Given the description of an element on the screen output the (x, y) to click on. 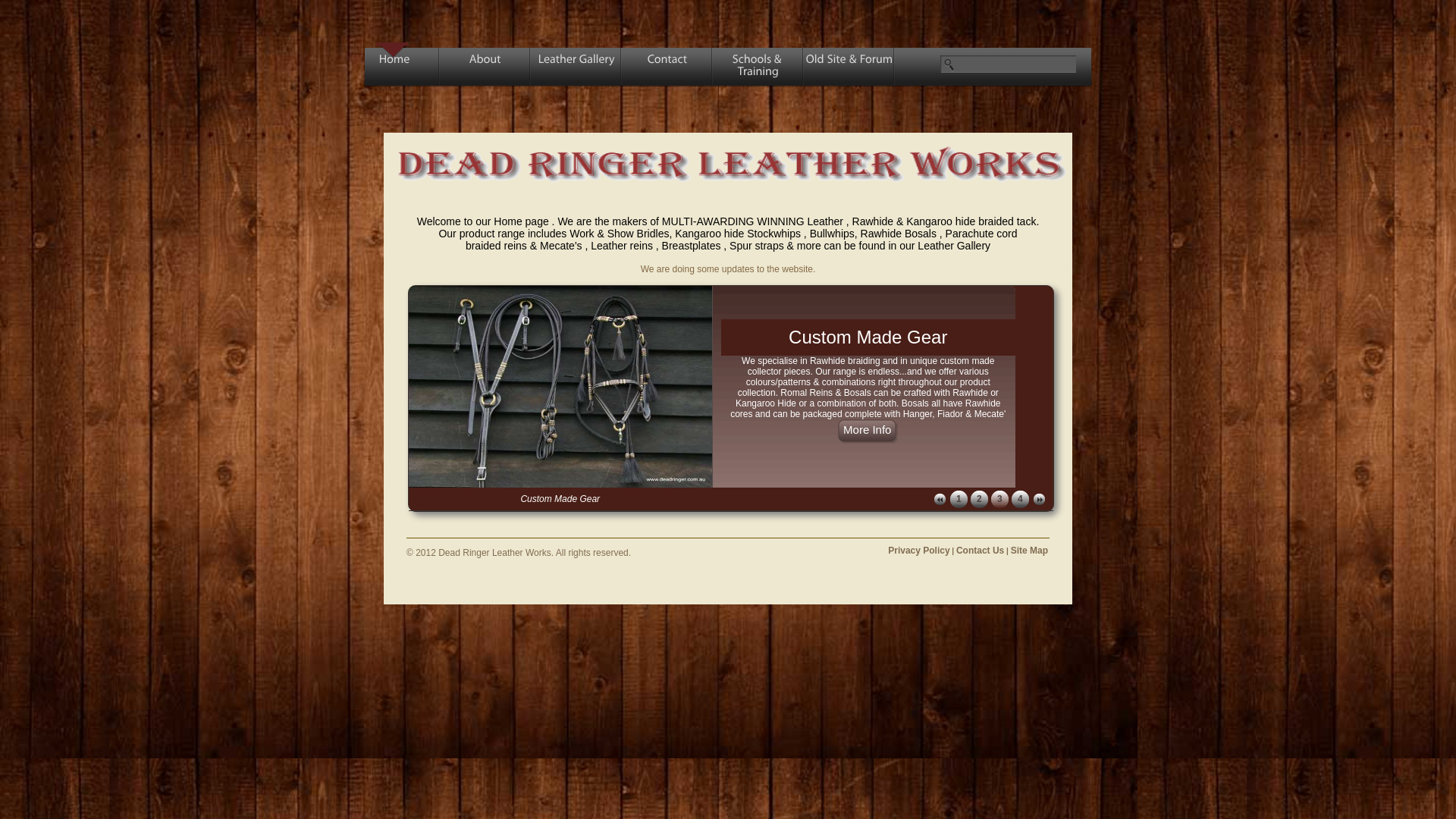
4 Element type: text (1020, 499)
Privacy Policy Element type: text (918, 550)
Schools & Training Element type: text (757, 68)
3 Element type: text (999, 499)
Previous Element type: text (939, 499)
Next Element type: text (1038, 499)
1 Element type: text (958, 499)
Leather Gallery Element type: text (575, 68)
2 Element type: text (979, 499)
Click for Details Element type: text (867, 444)
About Element type: text (484, 68)
Click for Details Element type: text (867, 444)
Home Element type: text (393, 68)
Contact Us Element type: text (980, 550)
Site Map Element type: text (1029, 550)
Old Site & Forum Element type: text (848, 68)
Contact Element type: text (666, 68)
